Given the description of an element on the screen output the (x, y) to click on. 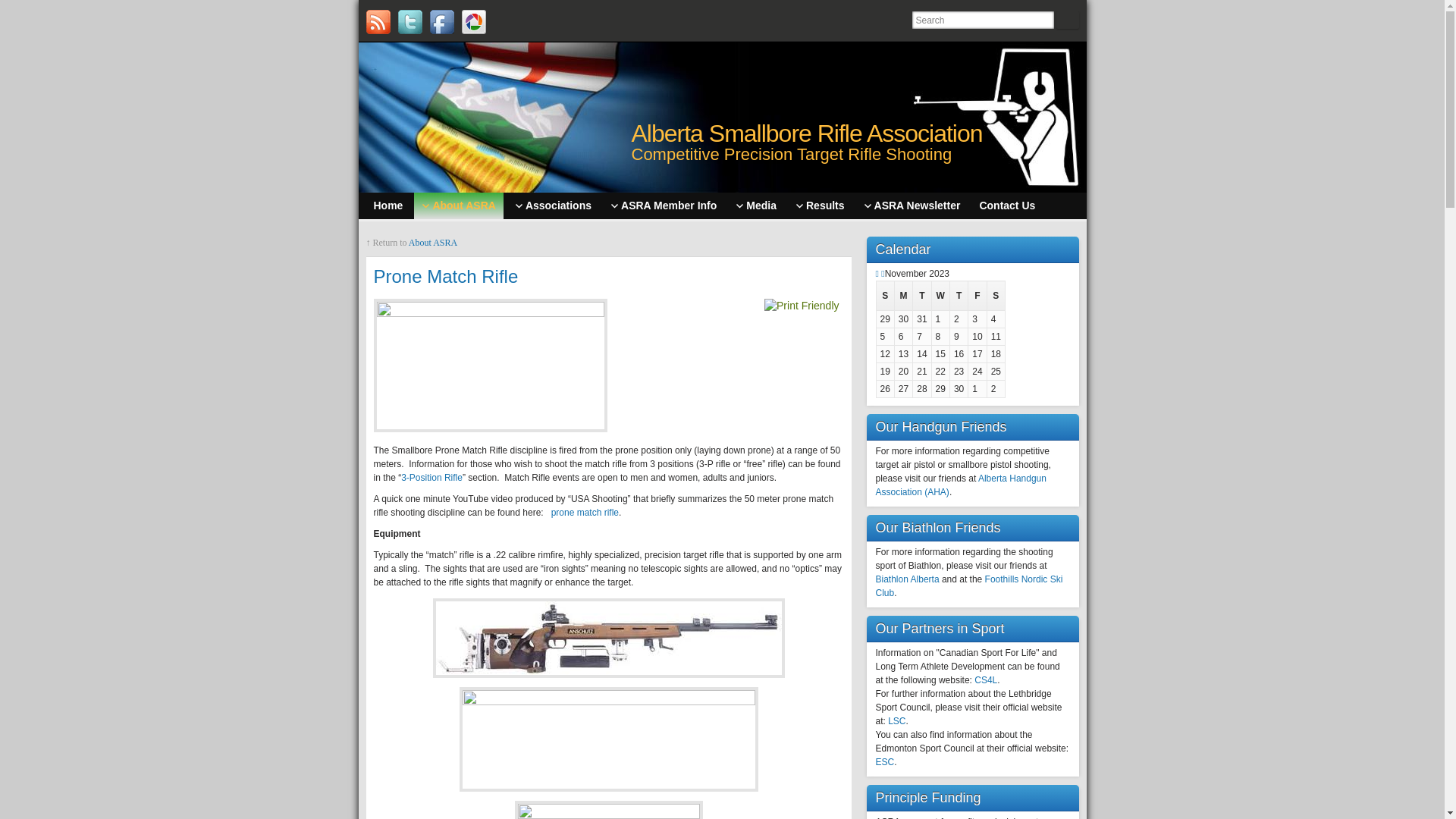
Results Element type: text (819, 205)
Contact Us Element type: text (1006, 205)
Alberta Smallbore Rifle Association Element type: text (806, 133)
3-Position Rifle Element type: text (431, 477)
About ASRA Element type: text (432, 242)
LSC Element type: text (896, 720)
Home Element type: text (387, 205)
CS4L Element type: text (985, 679)
Visit Alberta Smallbore Rifle Association's Custom page Element type: hover (473, 21)
Media Element type: text (756, 205)
ASRA Newsletter Element type: text (912, 205)
About ASRA Element type: text (458, 205)
Follow Alberta Smallbore Rifle Association on Twitter Element type: hover (409, 21)
ESC Element type: text (884, 761)
walther match rifle Element type: hover (608, 739)
ASRA Member Info Element type: text (663, 205)
Subscribe to Alberta Smallbore Rifle Association's RSS feed Element type: hover (377, 21)
Anschutz match rifle Element type: hover (608, 637)
Associations Element type: text (553, 205)
Foothills Nordic Ski Club Element type: text (968, 586)
Alberta Handgun Association (AHA) Element type: text (960, 485)
Biathlon Alberta Element type: text (906, 579)
prone match rifle Element type: text (584, 512)
Visit Alberta Smallbore Rifle Association's Facebook page Element type: hover (441, 21)
